Given the description of an element on the screen output the (x, y) to click on. 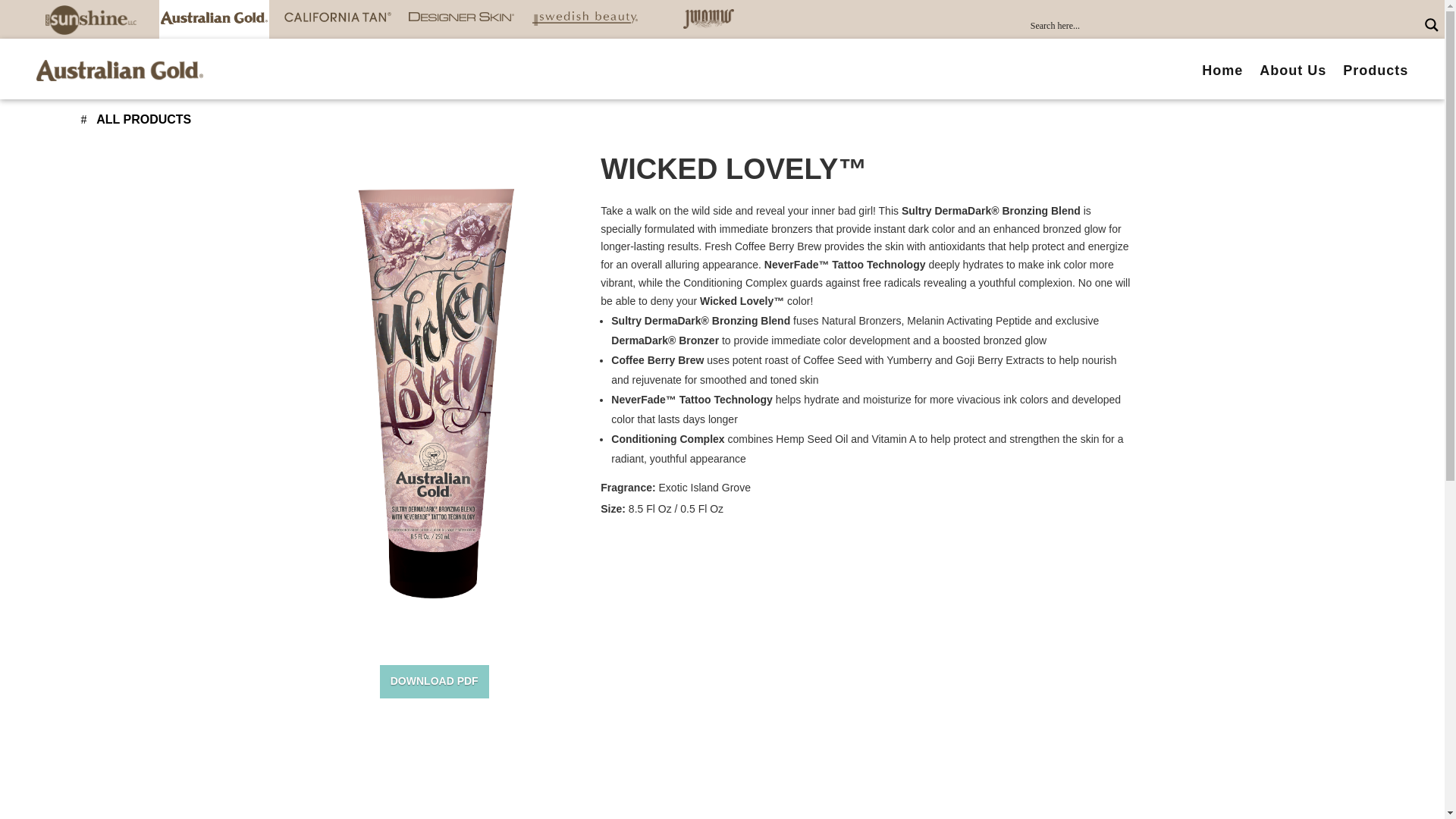
DOWNLOAD PDF (434, 681)
About Us (1292, 70)
ALL PRODUCTS (135, 119)
Products (1374, 70)
